Given the description of an element on the screen output the (x, y) to click on. 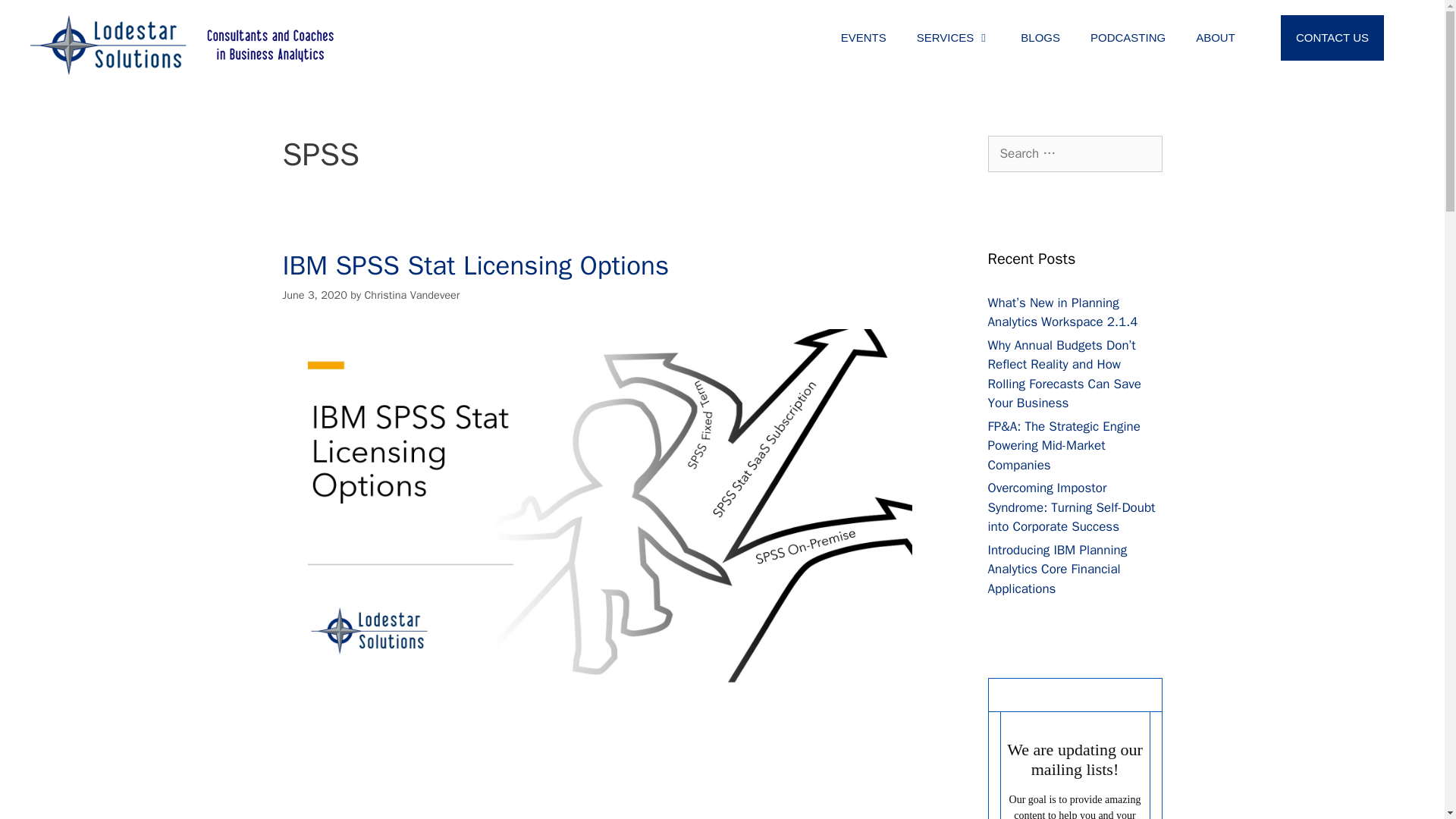
Lodestar Solutions (181, 44)
CONTACT US (1332, 37)
Lodestar Solutions (181, 45)
Search for: (1074, 153)
Christina Vandeveer (412, 295)
SERVICES (953, 37)
EVENTS (863, 37)
ABOUT (1215, 37)
View all posts by Christina Vandeveer (412, 295)
BLOGS (1040, 37)
